Given the description of an element on the screen output the (x, y) to click on. 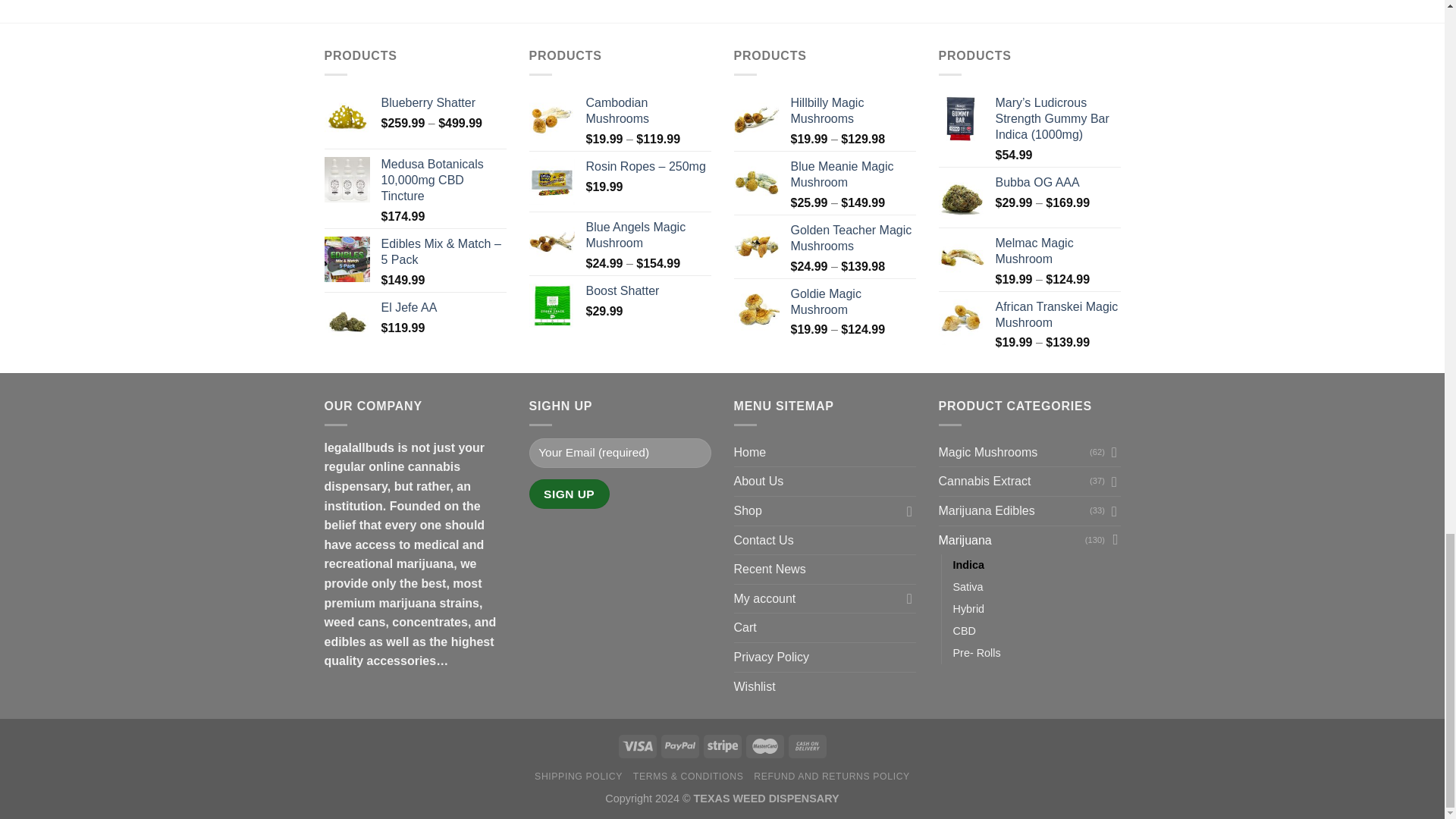
Sign Up (569, 493)
